Given the description of an element on the screen output the (x, y) to click on. 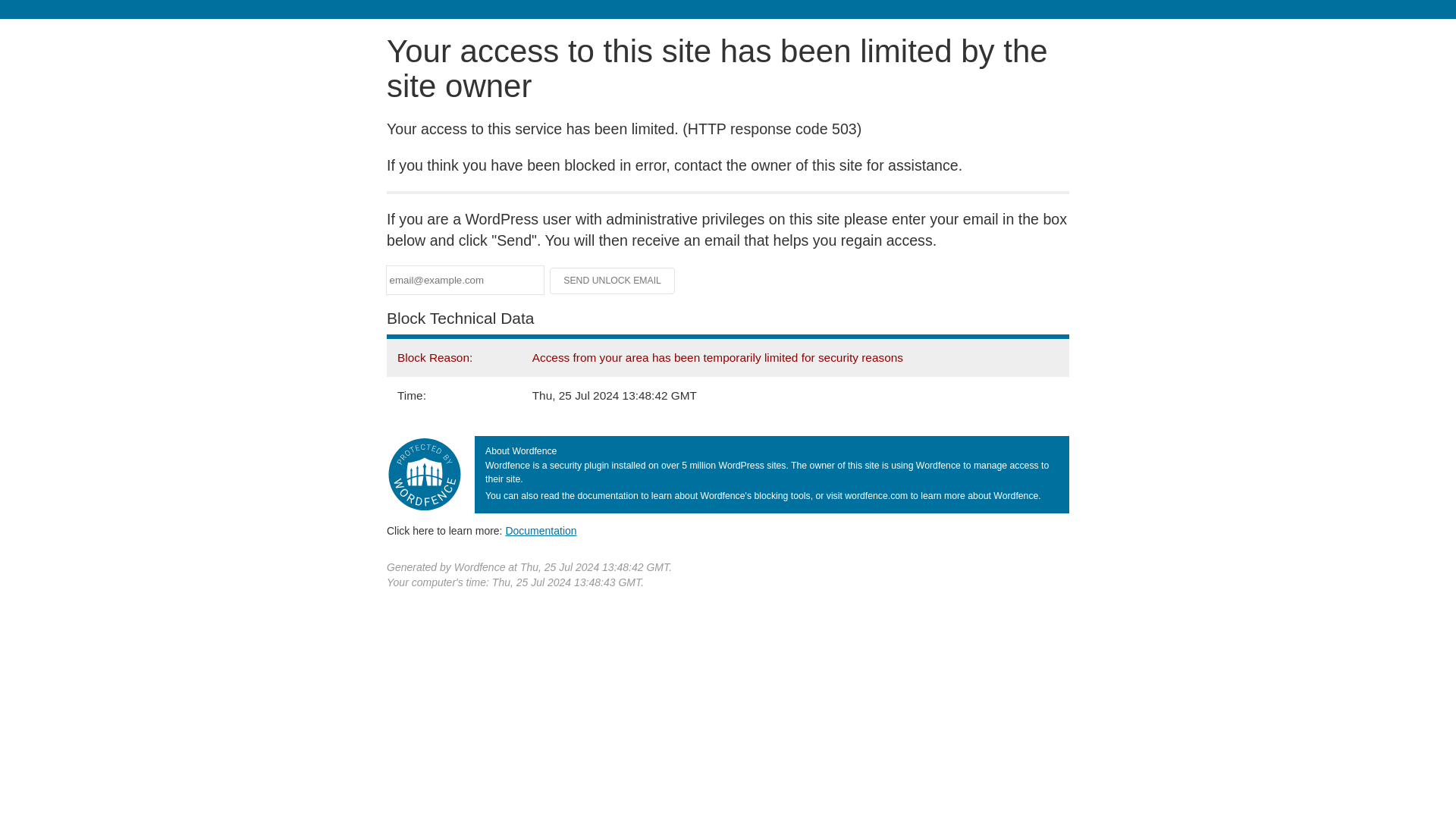
Send Unlock Email (612, 280)
Send Unlock Email (612, 280)
